Given the description of an element on the screen output the (x, y) to click on. 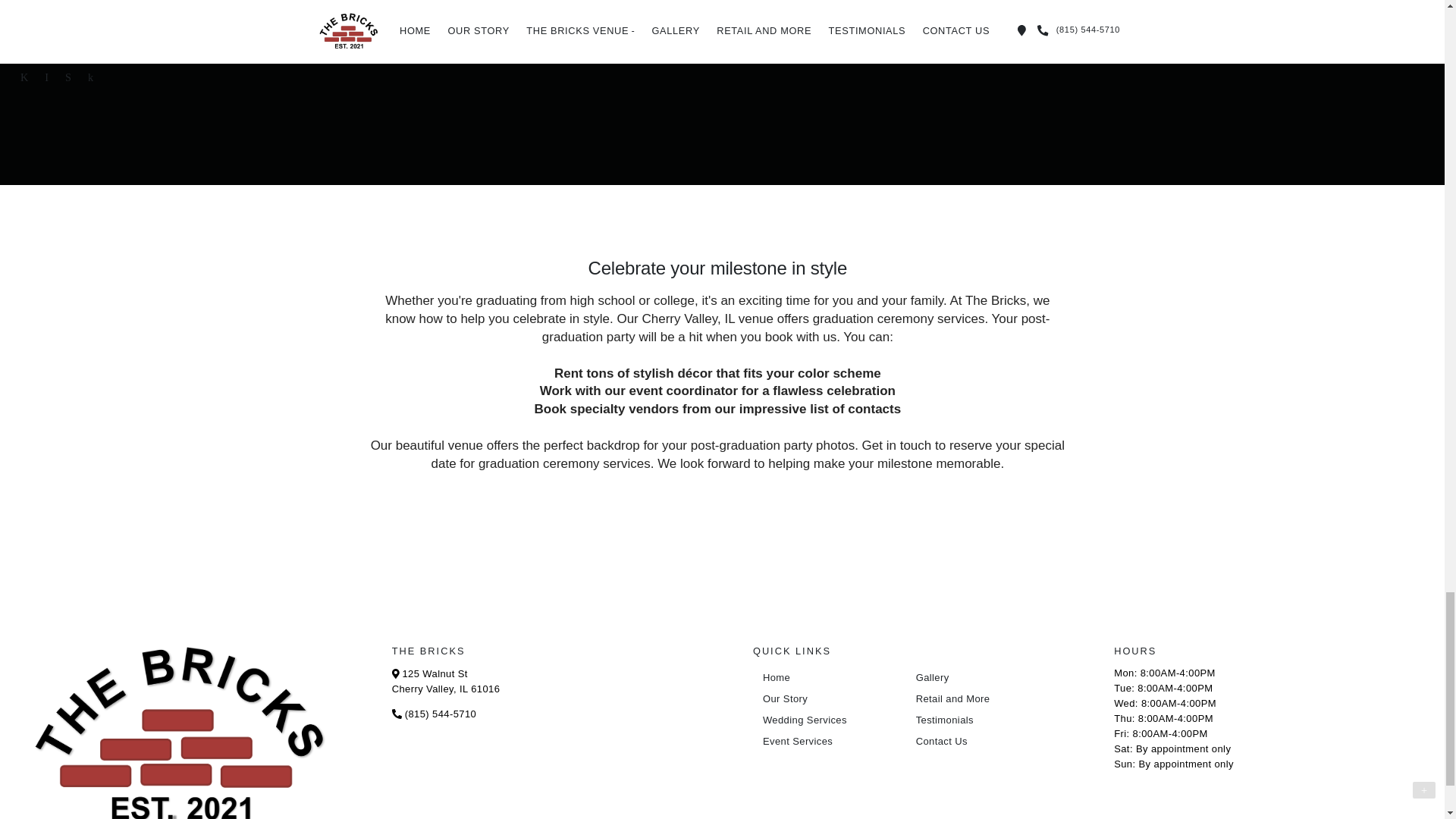
Home (825, 678)
